Given the description of an element on the screen output the (x, y) to click on. 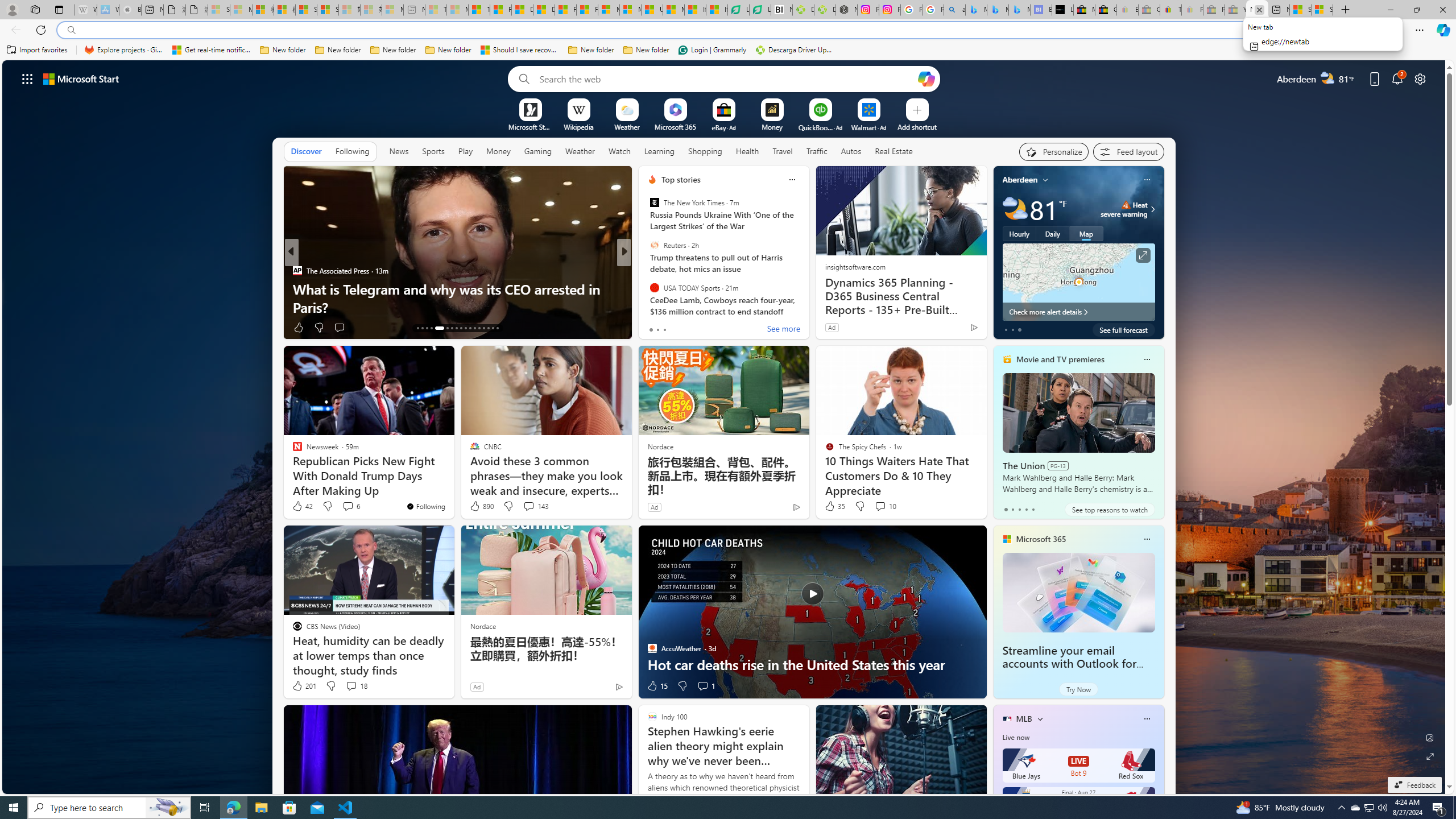
Microsoft Bing Travel - Shangri-La Hotel Bangkok (1019, 9)
Real Estate (893, 151)
Simply More Time (647, 288)
You're following Newsweek (425, 505)
New folder (646, 49)
News (398, 151)
See top reasons to watch (1109, 509)
35 Like (834, 505)
255 Like (654, 327)
More interests (1039, 718)
